Given the description of an element on the screen output the (x, y) to click on. 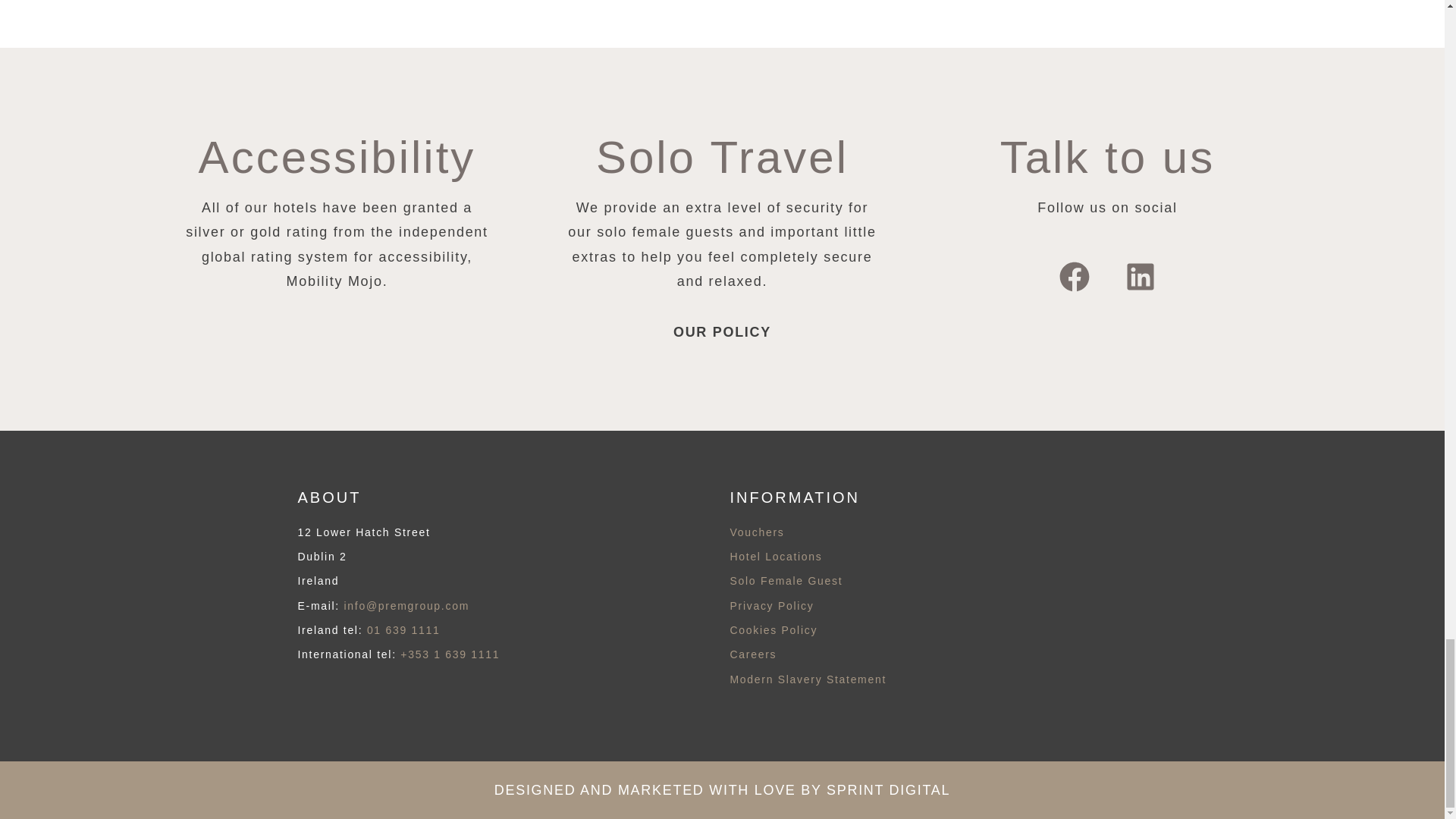
OUR POLICY (721, 332)
Hotel Locations (775, 556)
Modern Slavery Statement (807, 679)
Careers (752, 654)
Cookies Policy (772, 630)
DESIGNED AND MARKETED WITH LOVE BY SPRINT DIGITAL (722, 789)
Solo Female Guest (786, 580)
Vouchers (756, 532)
Privacy Policy (771, 605)
01 639 1111 (403, 630)
